Given the description of an element on the screen output the (x, y) to click on. 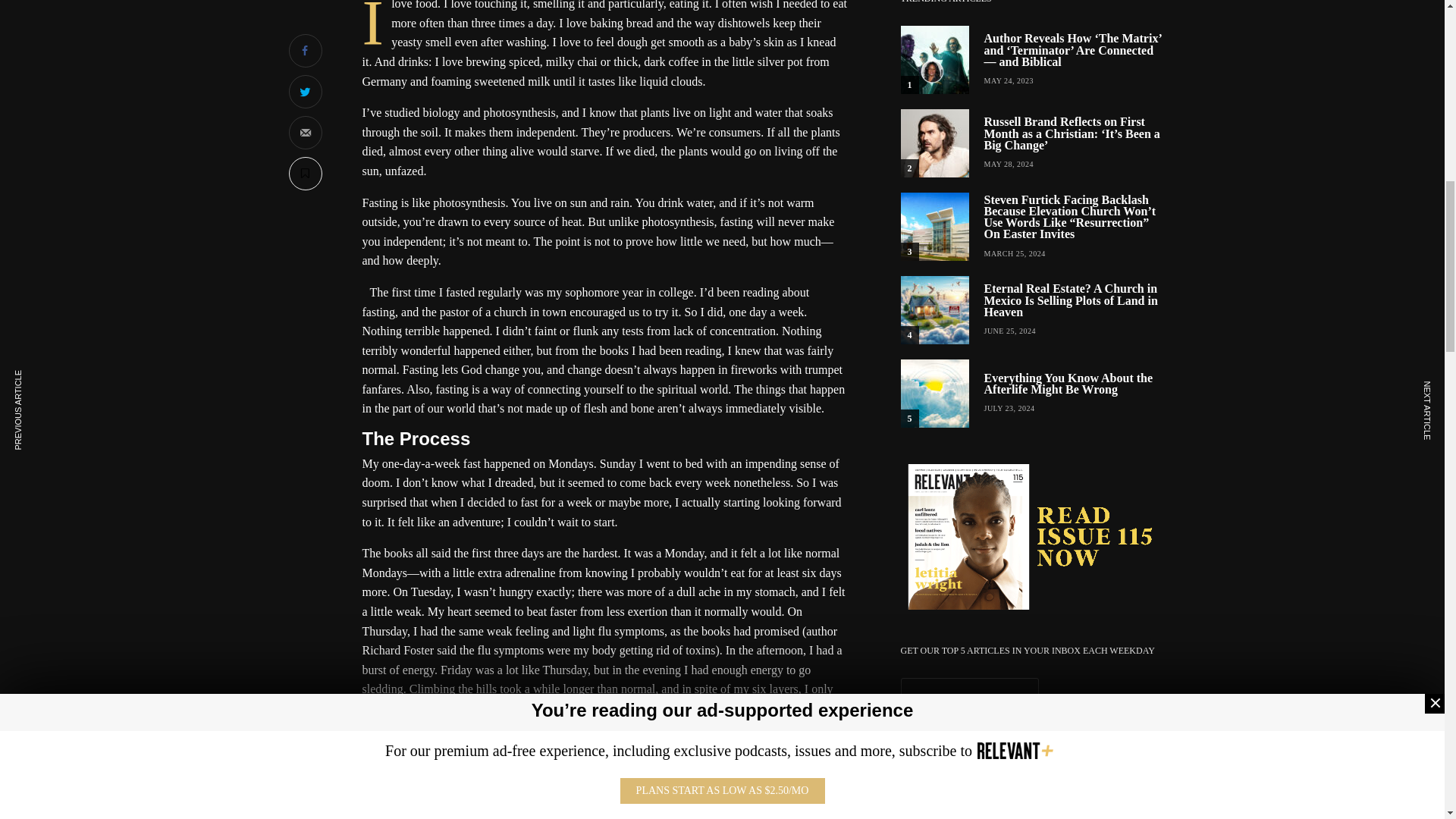
Subscribe Now (1033, 734)
